Given the description of an element on the screen output the (x, y) to click on. 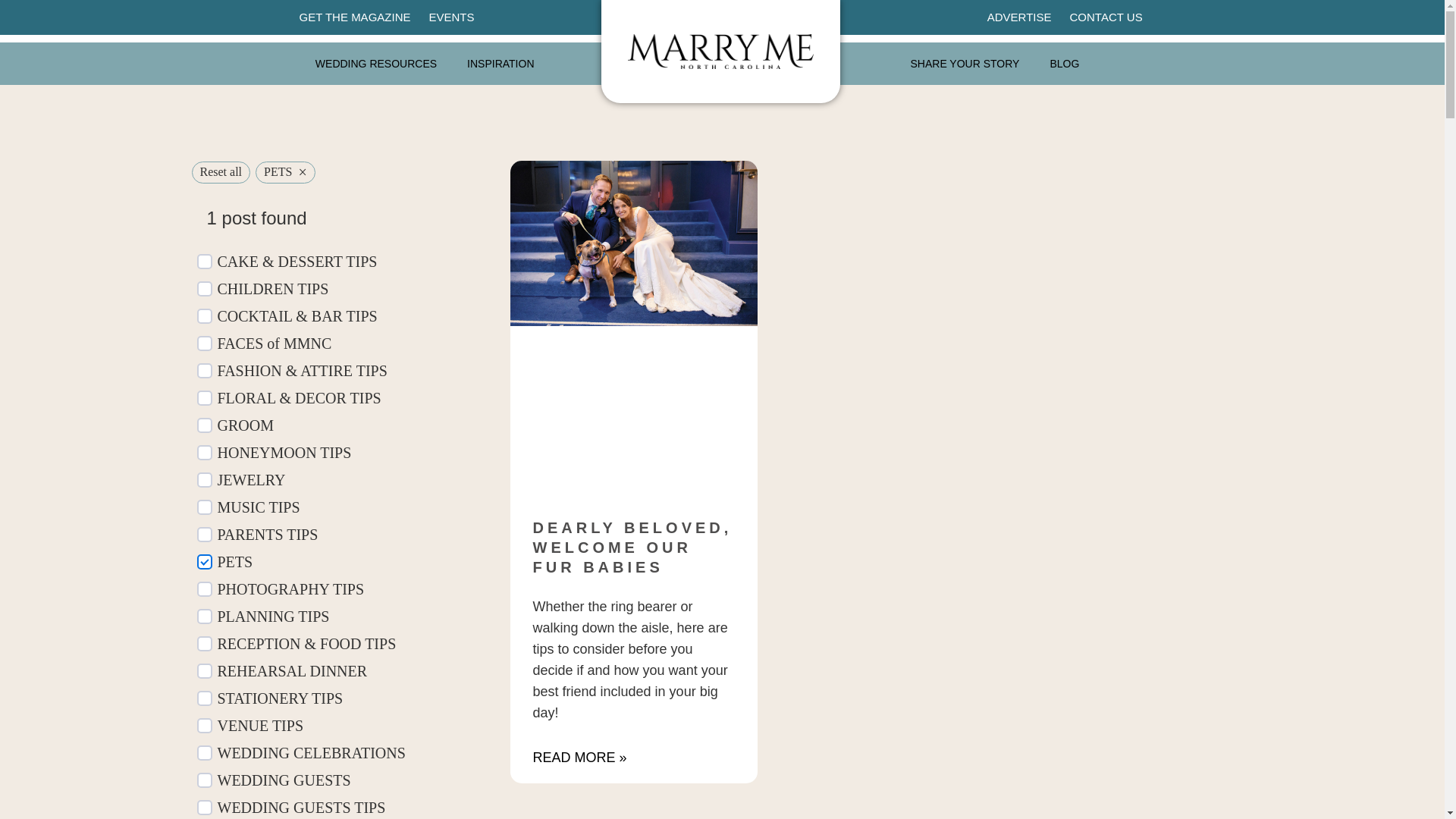
on (204, 343)
GET THE MAGAZINE (354, 17)
on (204, 534)
on (204, 698)
on (204, 670)
on (204, 752)
BLOG (1063, 63)
INSPIRATION (499, 63)
EVENTS (451, 17)
WEDDING RESOURCES (375, 63)
on (204, 780)
on (204, 397)
on (204, 425)
ADVERTISE (1019, 17)
on (204, 616)
